Given the description of an element on the screen output the (x, y) to click on. 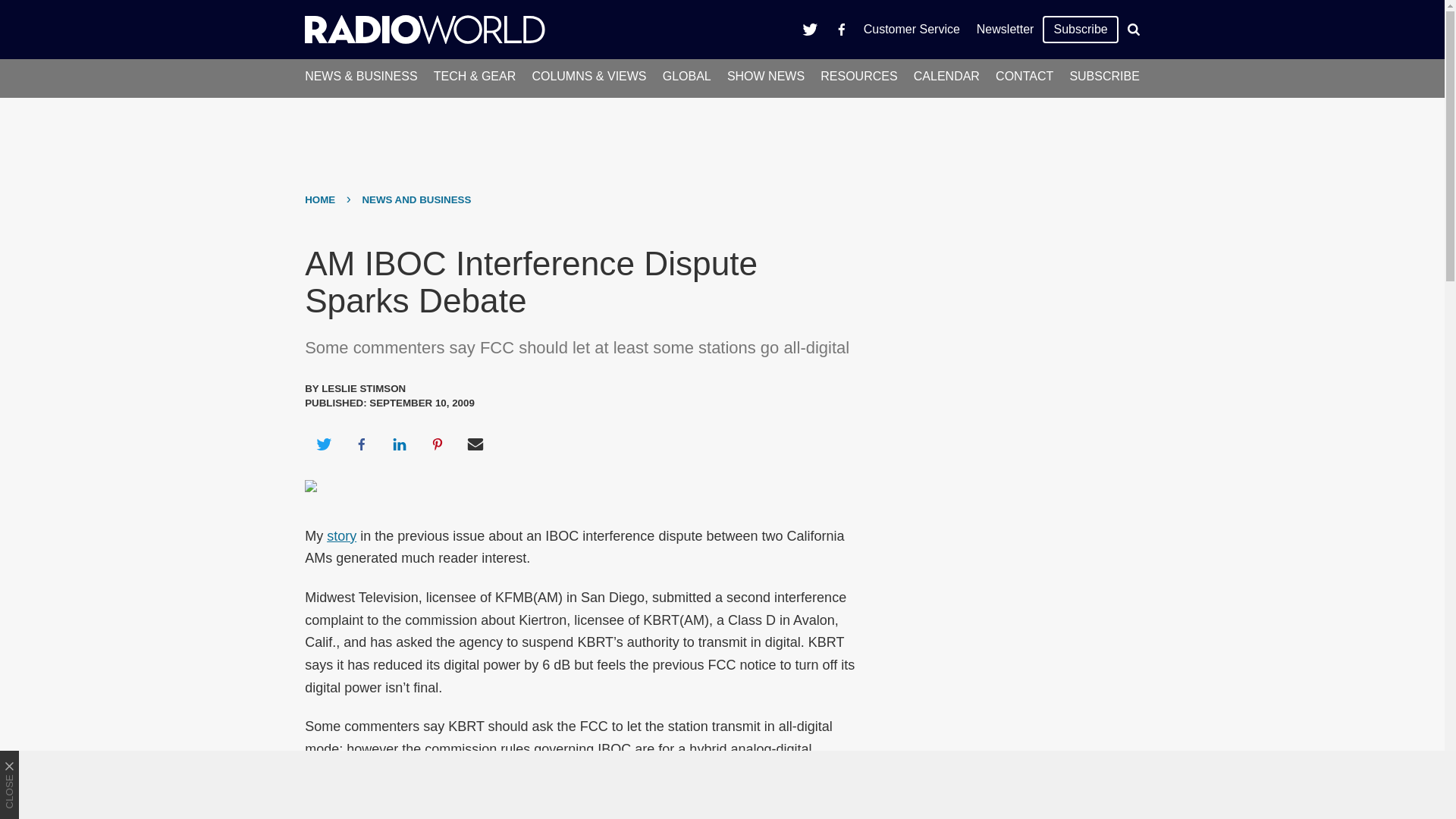
Newsletter (1005, 29)
Share on LinkedIn (399, 444)
Customer Service (912, 29)
Share on Facebook (361, 444)
Share on Pinterest (438, 444)
Share on Twitter (323, 444)
Share via Email (476, 444)
